Given the description of an element on the screen output the (x, y) to click on. 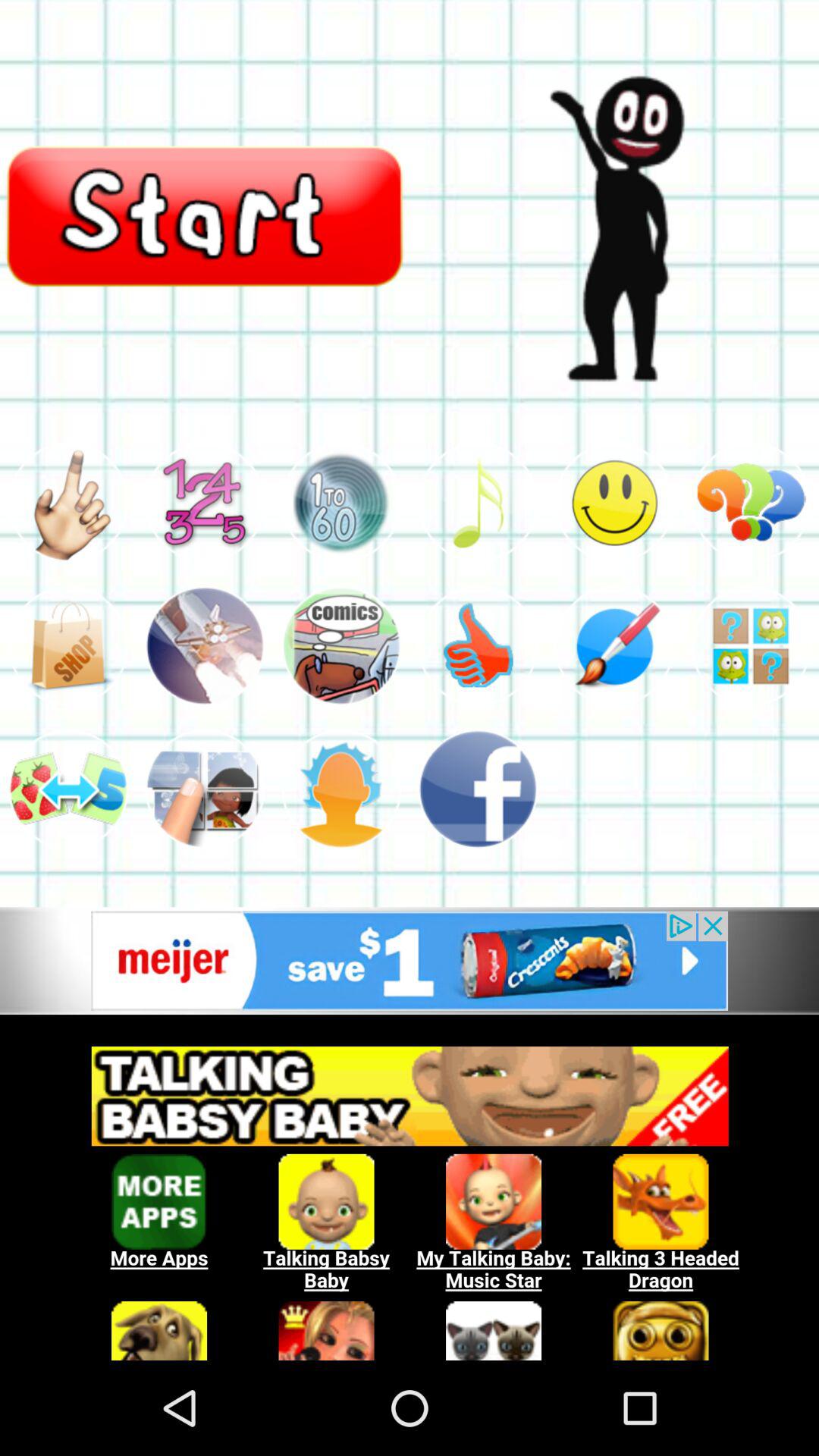
click on advertisement (409, 960)
